Given the description of an element on the screen output the (x, y) to click on. 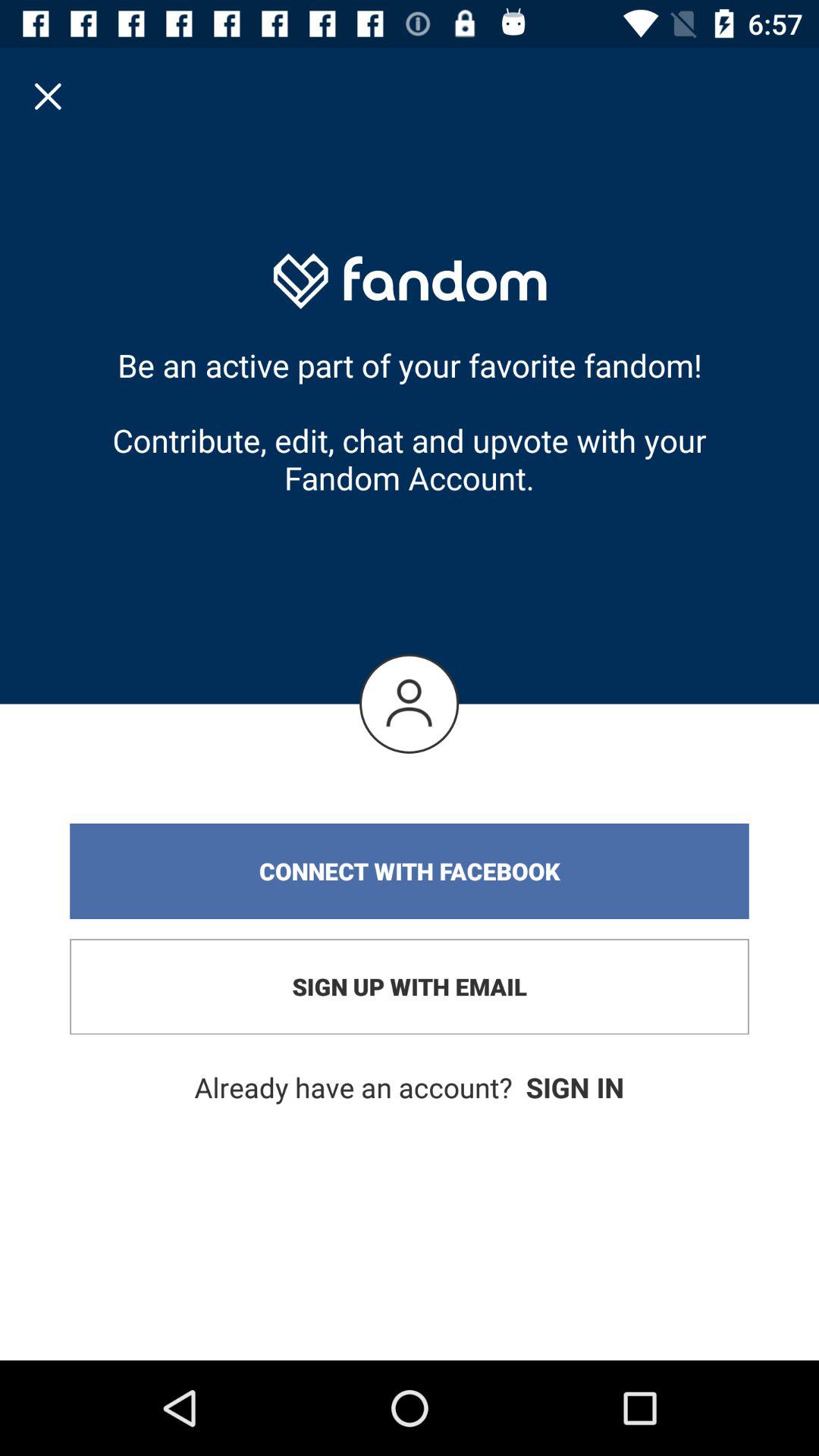
click icon below the sign up with icon (409, 1087)
